Given the description of an element on the screen output the (x, y) to click on. 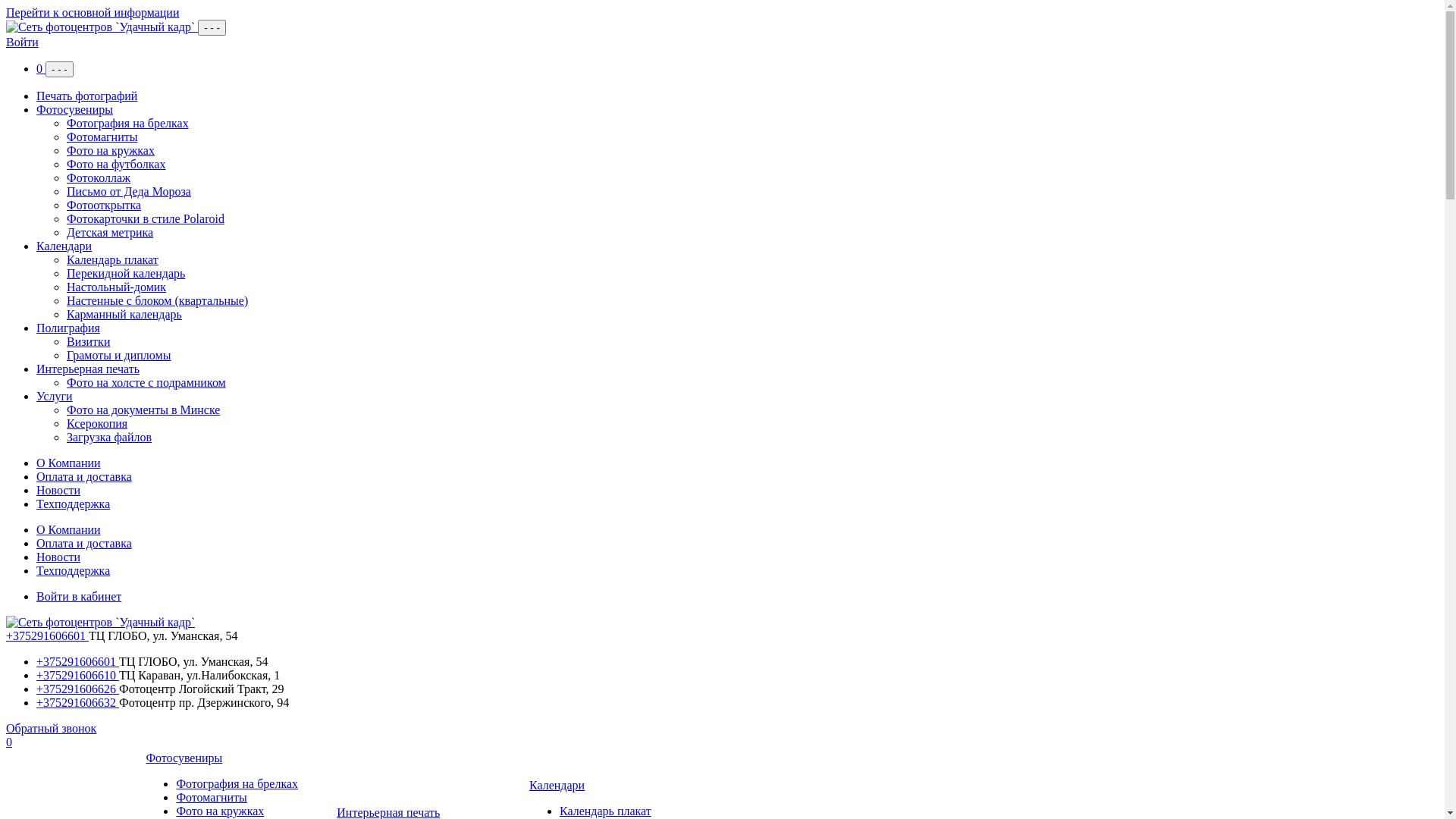
- - - Element type: text (59, 69)
+375291606626 Element type: text (77, 688)
- - - Element type: text (211, 27)
+375291606610 Element type: text (77, 674)
+375291606632 Element type: text (77, 702)
+375291606601 Element type: text (47, 635)
0 Element type: text (9, 741)
0 Element type: text (40, 68)
+375291606601 Element type: text (77, 661)
